Given the description of an element on the screen output the (x, y) to click on. 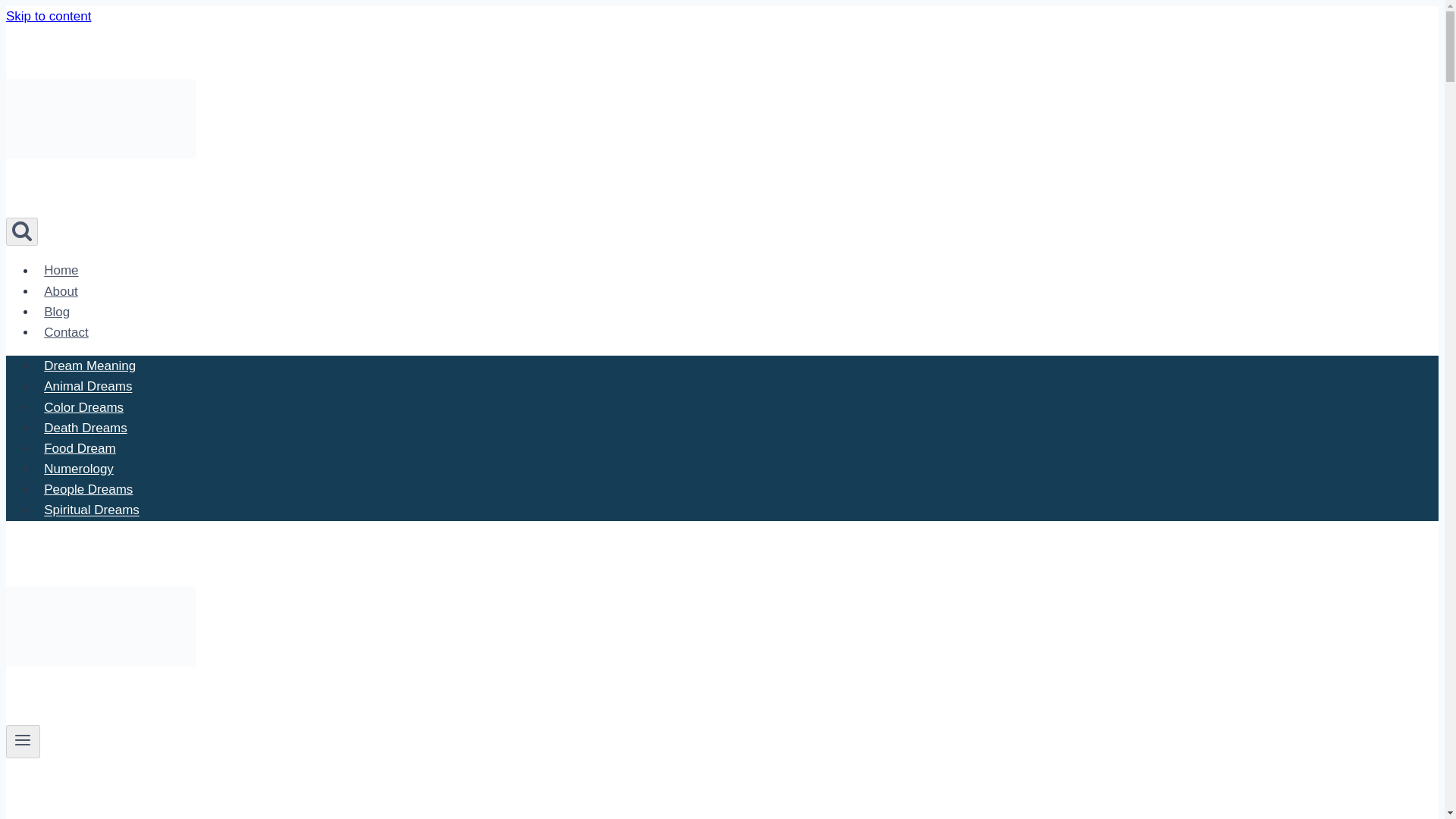
Death Dreams (85, 428)
Dream Meaning (89, 365)
Spiritual Dreams (91, 509)
Search (21, 230)
Toggle Menu (22, 740)
Home (60, 270)
People Dreams (88, 489)
Skip to content (47, 16)
Skip to content (47, 16)
Blog (56, 311)
